Given the description of an element on the screen output the (x, y) to click on. 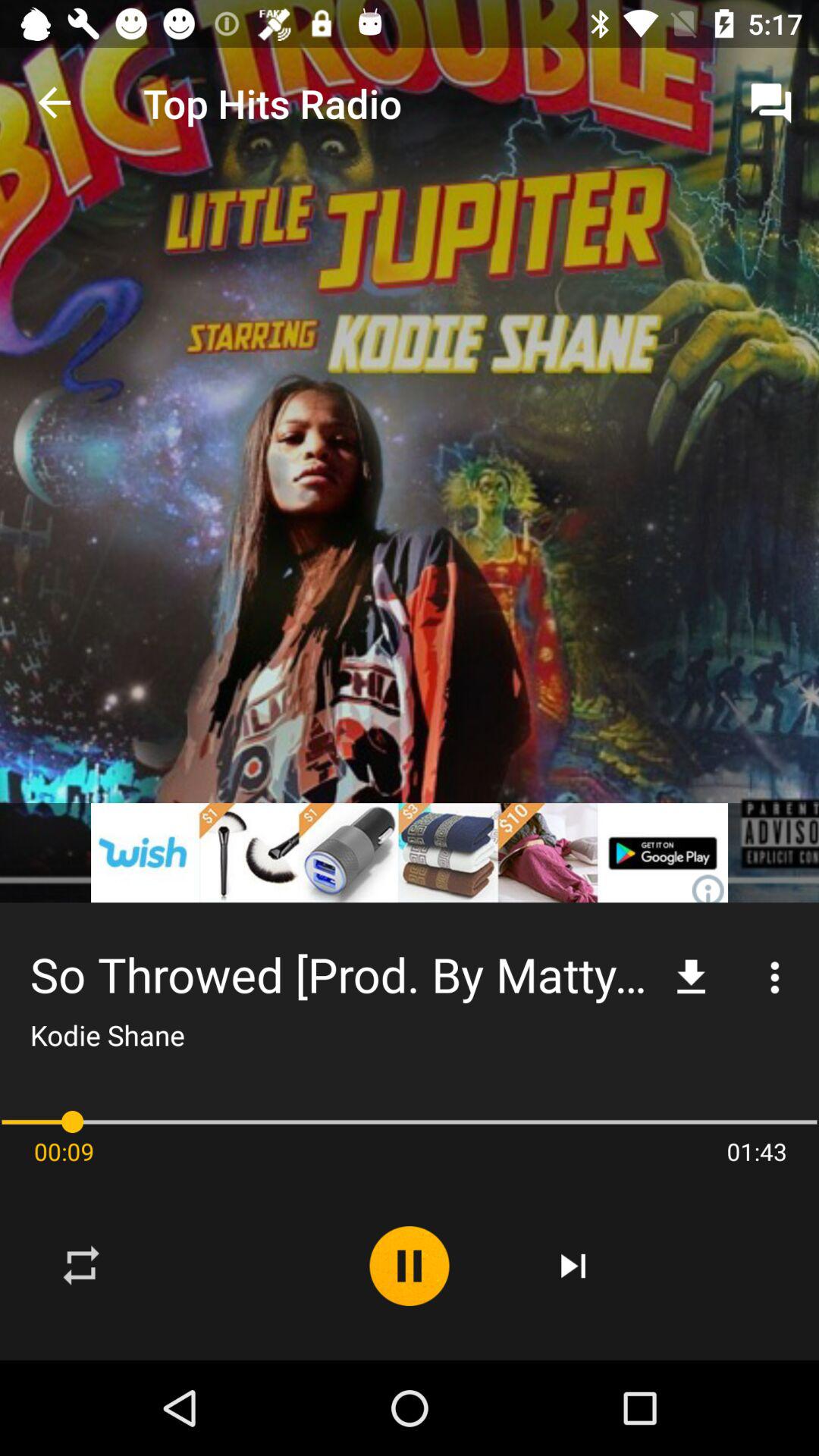
press the icon next to top hits radio app (771, 103)
